Given the description of an element on the screen output the (x, y) to click on. 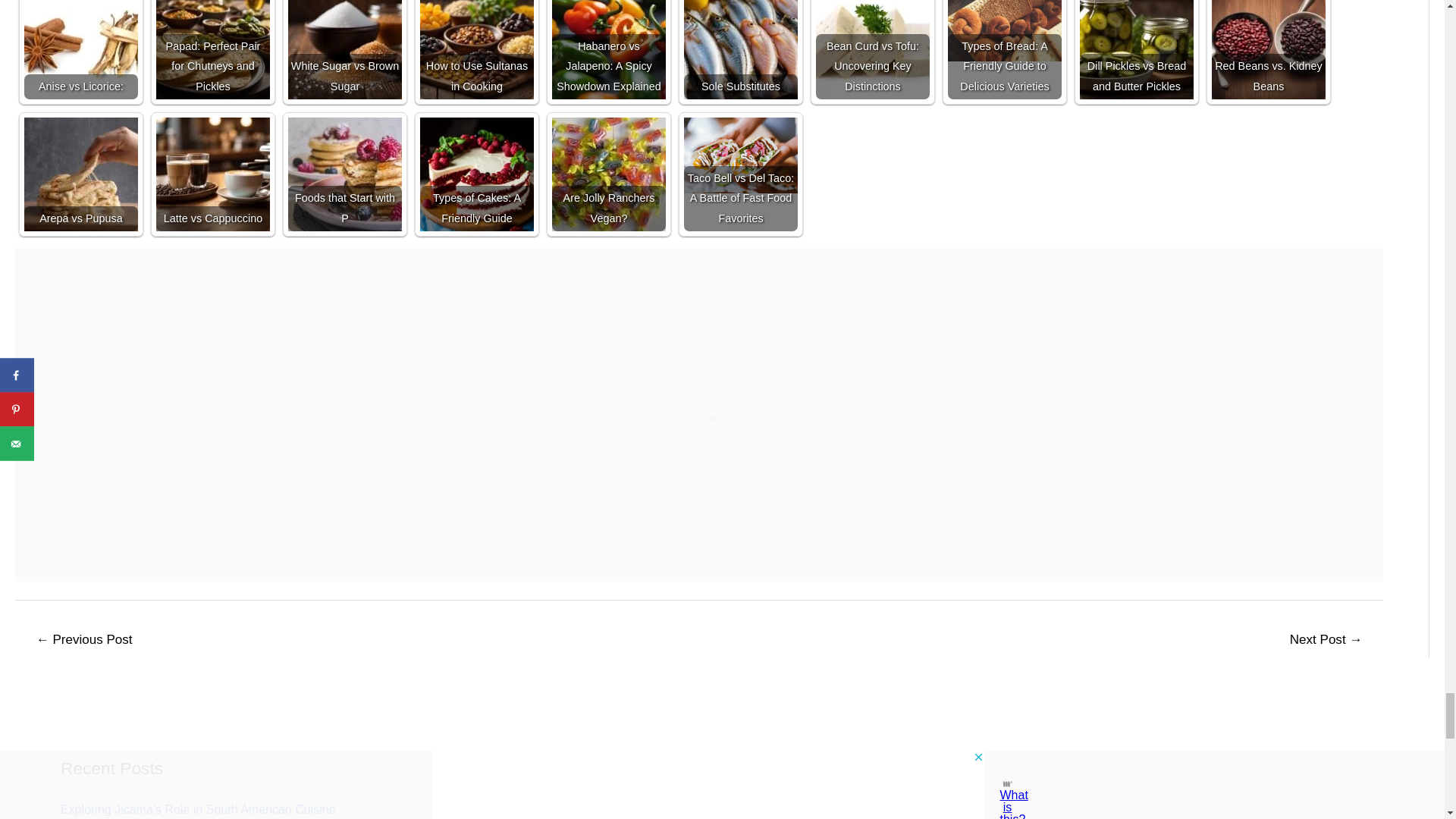
Papad: Perfect Pair for Chutneys and Pickles (212, 49)
Anise vs Licorice: (81, 49)
How to Use Sultanas in Cooking (477, 49)
White Sugar vs Brown Sugar (344, 49)
Habanero vs Jalapeno: A Spicy Showdown Explained (608, 49)
